Given the description of an element on the screen output the (x, y) to click on. 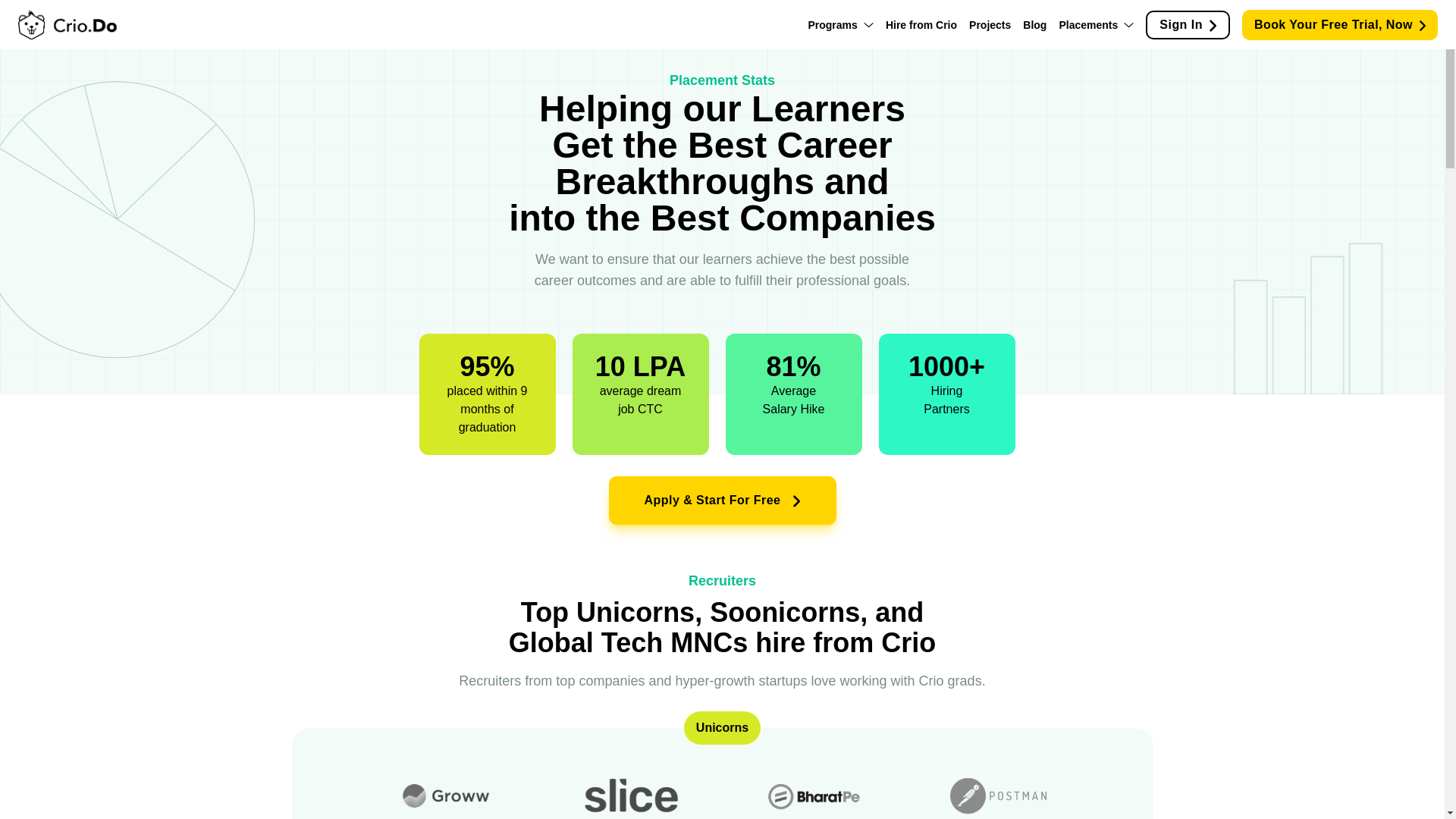
Sign In (1187, 24)
Blog (1034, 23)
Hire from Crio (920, 23)
Book Your Free Trial, Now (1339, 24)
Projects (989, 23)
